Given the description of an element on the screen output the (x, y) to click on. 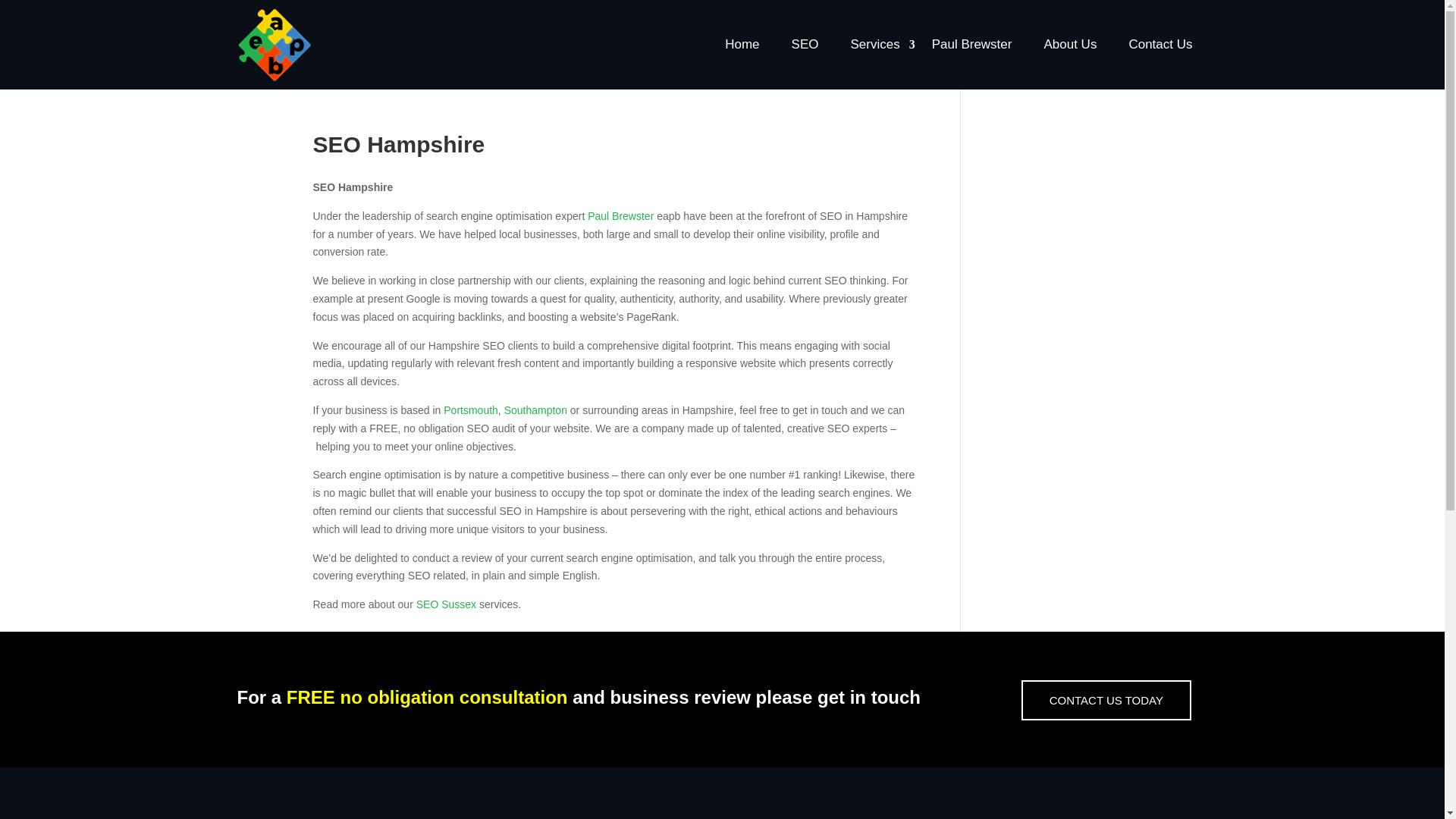
Southampton (535, 410)
Paul Brewster (979, 44)
SEO Sussex (446, 604)
Paul Brewster (620, 215)
SEO Sussex (446, 604)
About Us (1077, 44)
Portsmouth (470, 410)
Portsmouth (470, 410)
Southampton (535, 410)
Contact Us (1167, 44)
